Given the description of an element on the screen output the (x, y) to click on. 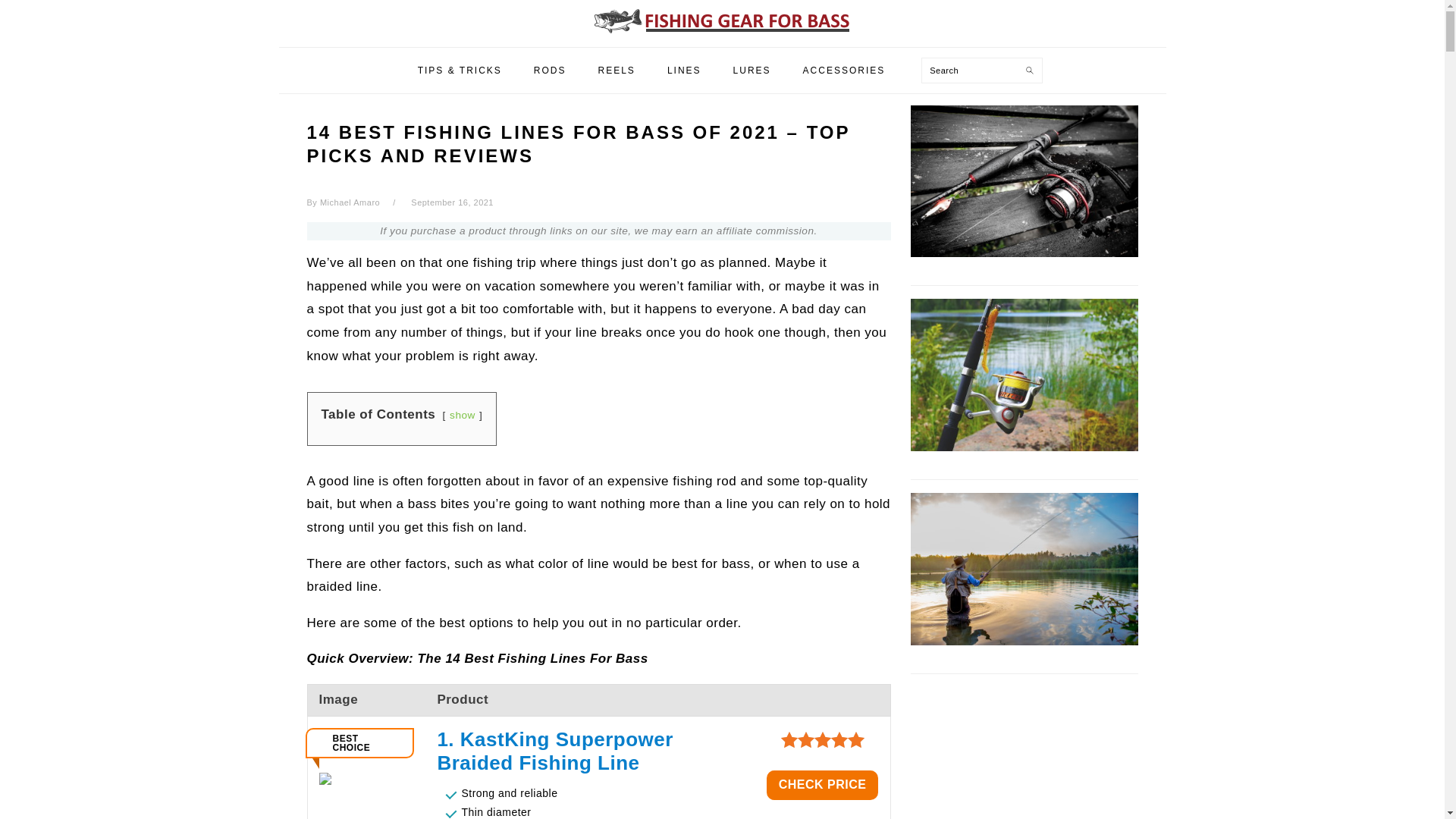
show (462, 414)
How to Put Fishing line on a Spinning Reel (1023, 252)
Drop Shot Rig Fishing Tips and Tricks (1023, 640)
1. KastKing Superpower Braided Fishing Line (589, 751)
RODS (550, 70)
Spinning Reel Sizes (1023, 446)
REELS (616, 70)
LURES (752, 70)
ACCESSORIES (844, 70)
LINES (683, 70)
CHECK PRICE (823, 785)
